Given the description of an element on the screen output the (x, y) to click on. 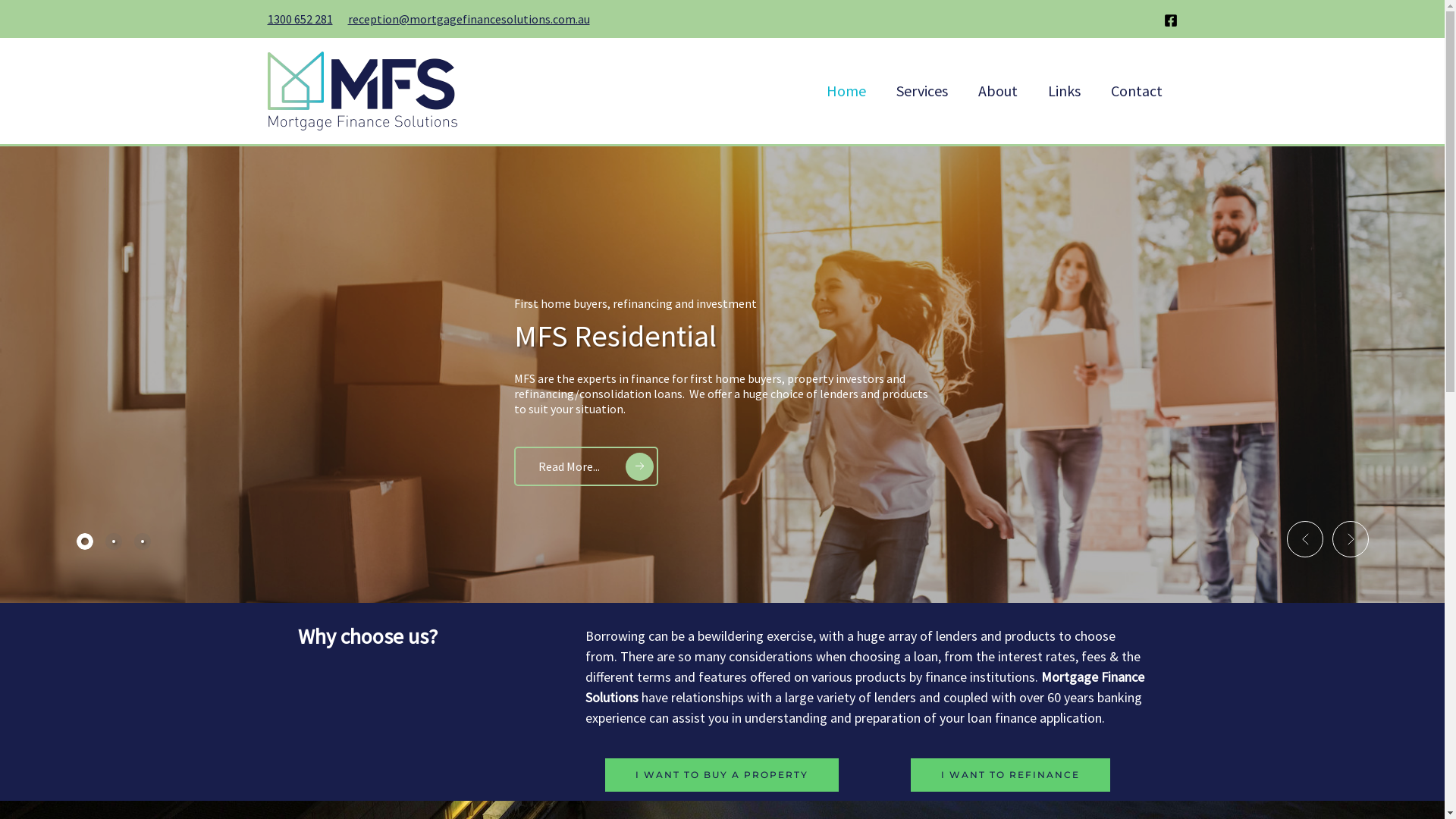
Services Element type: text (922, 89)
MFS Residential Element type: text (615, 335)
Links Element type: text (1063, 89)
Contact Element type: text (1135, 89)
I WANT TO BUY A PROPERTY Element type: text (721, 774)
Home Element type: text (846, 89)
1300 652 281 Element type: text (299, 18)
reception@mortgagefinancesolutions.com.au Element type: text (468, 18)
Read More... Element type: text (586, 466)
I WANT TO REFINANCE Element type: text (1010, 774)
About Element type: text (997, 89)
